Given the description of an element on the screen output the (x, y) to click on. 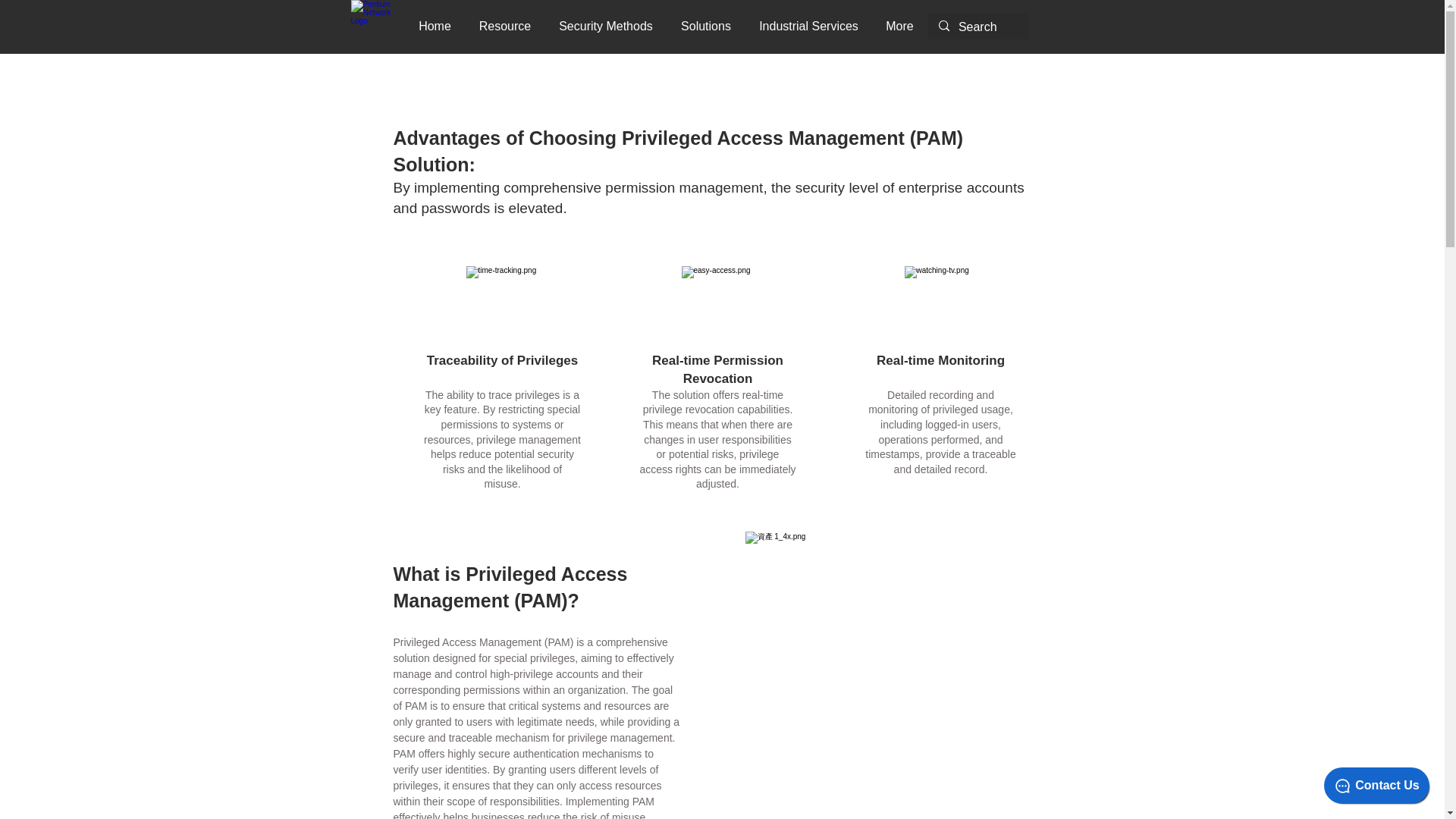
Industrial Services (808, 26)
Home (434, 26)
Contact Us (1376, 785)
